Given the description of an element on the screen output the (x, y) to click on. 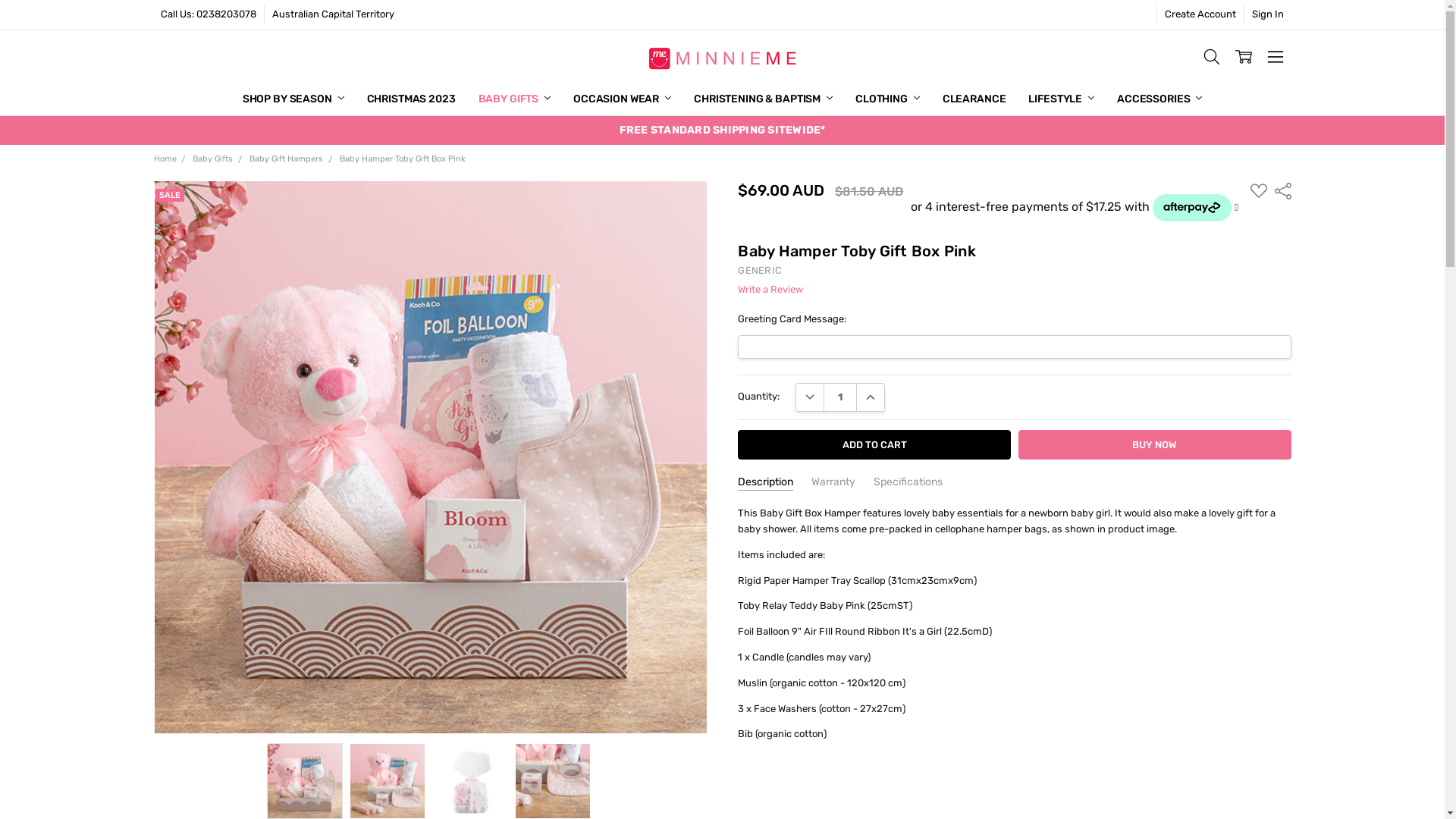
ADD TO WISH LIST Element type: text (1258, 190)
Buy Now Element type: text (1154, 444)
OCCASION WEAR Element type: text (621, 99)
Australian Capital Territory Element type: text (332, 14)
Description Element type: text (765, 482)
Share Element type: text (1282, 189)
TERMS & CONDITIONS Element type: text (787, 99)
MinnieMe Element type: hover (722, 56)
Call Us: 0238203078 Element type: text (208, 14)
CLOTHING Element type: text (887, 99)
SHIPPING & RETURNS Element type: text (786, 99)
GENERIC Element type: text (759, 270)
CHRISTMAS 2023 Element type: text (411, 99)
Add to Cart Element type: text (873, 444)
ACCESSORIES Element type: text (1159, 99)
Baby Gifts Element type: text (212, 158)
FREE GIFT WRAPPING SERVICE Element type: text (809, 99)
Specifications Element type: text (907, 482)
DECREASE QUANTITY: Element type: text (809, 397)
Write a Review Element type: text (770, 289)
CHRISTENING & BAPTISM Element type: text (763, 99)
Sign In Element type: text (1267, 14)
Home Element type: text (164, 158)
Warranty Element type: text (833, 482)
Baby Gift Hampers Element type: text (286, 158)
BABY GIFTS Element type: text (514, 99)
INCREASE QUANTITY: Element type: text (870, 397)
SHOP BY SEASON Element type: text (293, 99)
Create Account Element type: text (1200, 14)
PRIVACY Element type: text (754, 99)
CONTACT US Element type: text (765, 99)
Baby Hamper Toby Gift Box Pink Element type: text (402, 158)
CLEARANCE Element type: text (974, 99)
BLOG Element type: text (746, 99)
Baby Hamper Toby Gift Box Baby Pink Element type: hover (430, 457)
Show All Element type: hover (741, 99)
LIFESTYLE Element type: text (1060, 99)
